Given the description of an element on the screen output the (x, y) to click on. 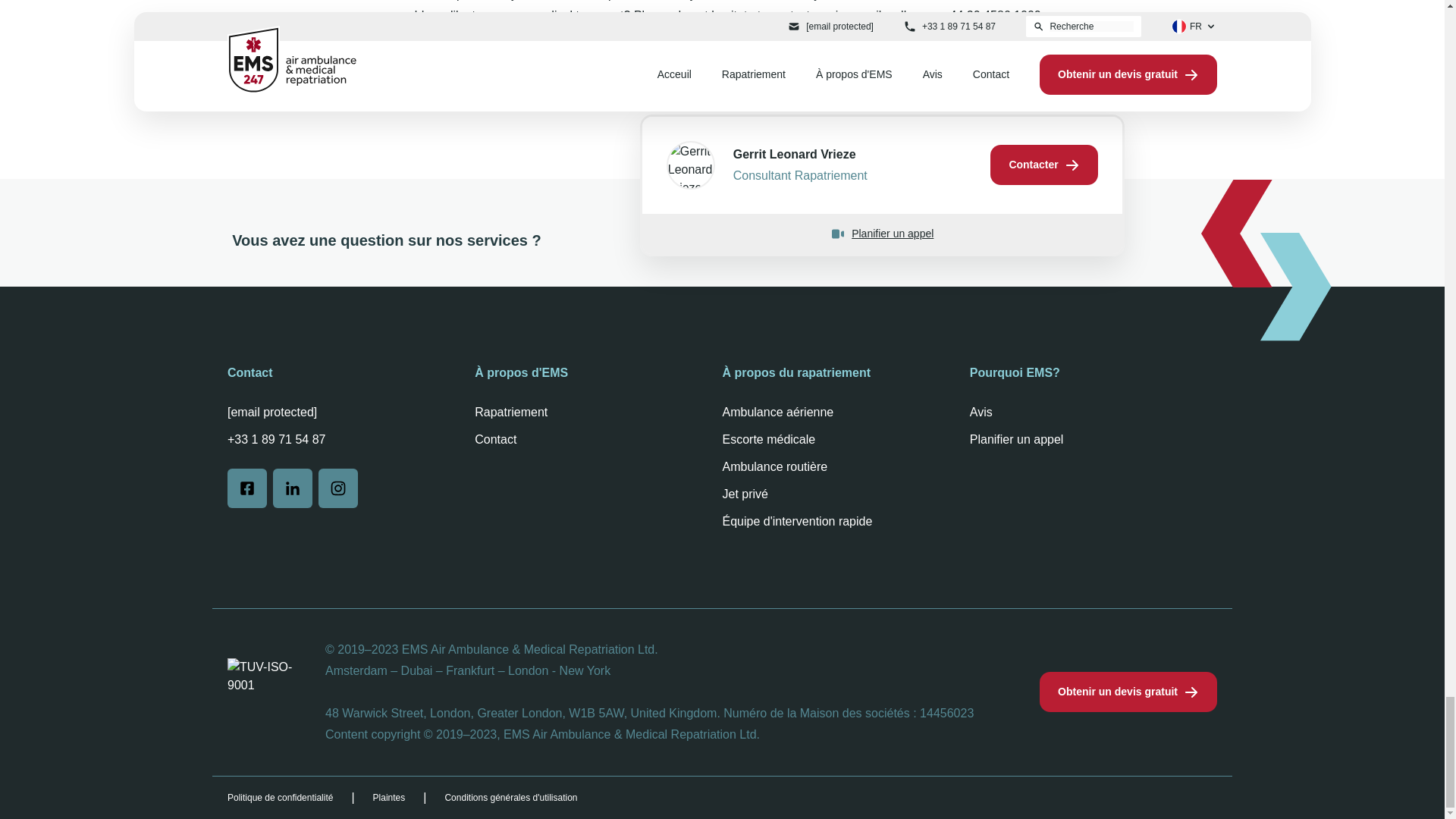
Planifier un appel (881, 233)
Contacter (1043, 164)
contact (789, 15)
